Given the description of an element on the screen output the (x, y) to click on. 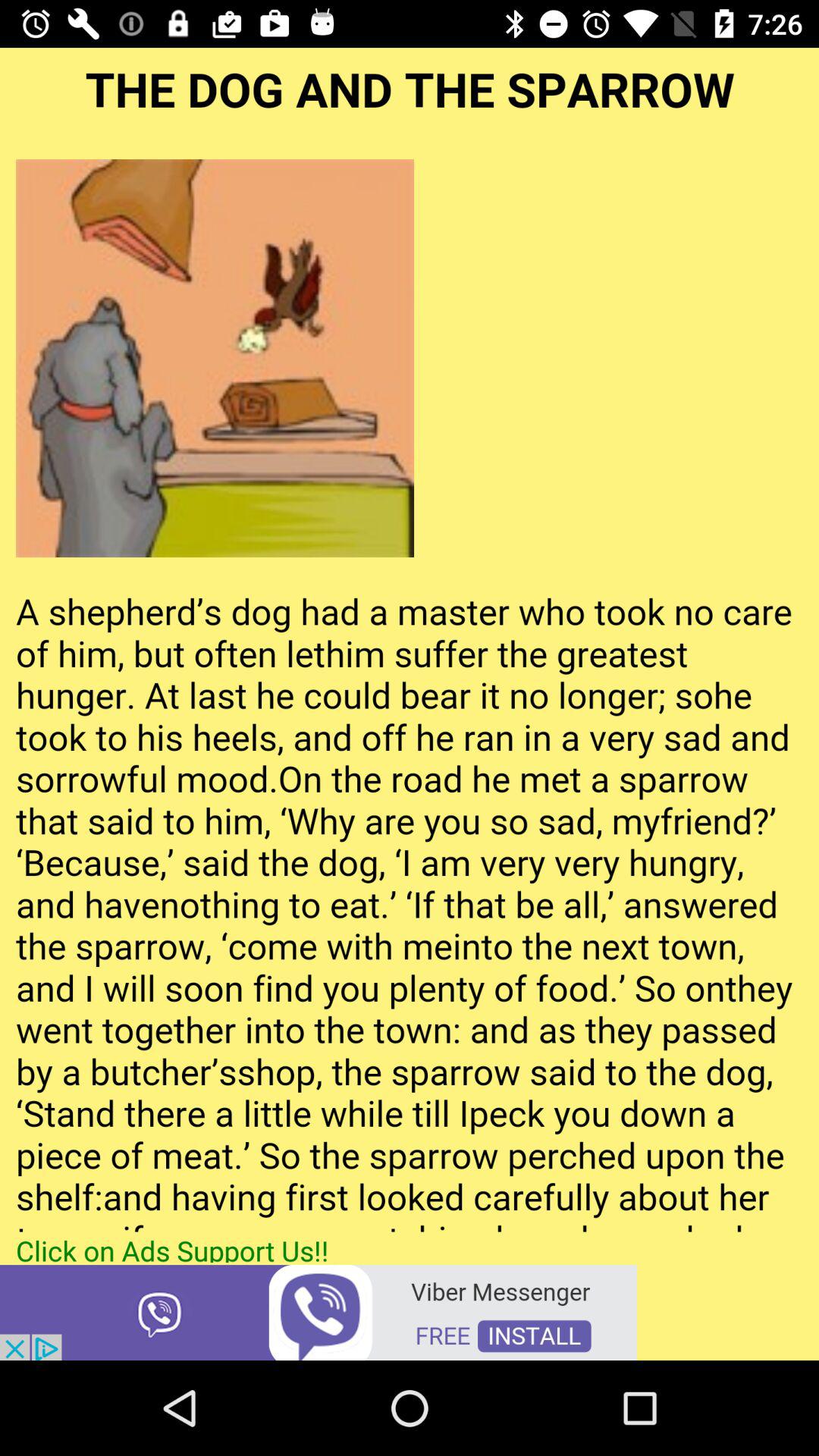
open advertisement (318, 1311)
